Given the description of an element on the screen output the (x, y) to click on. 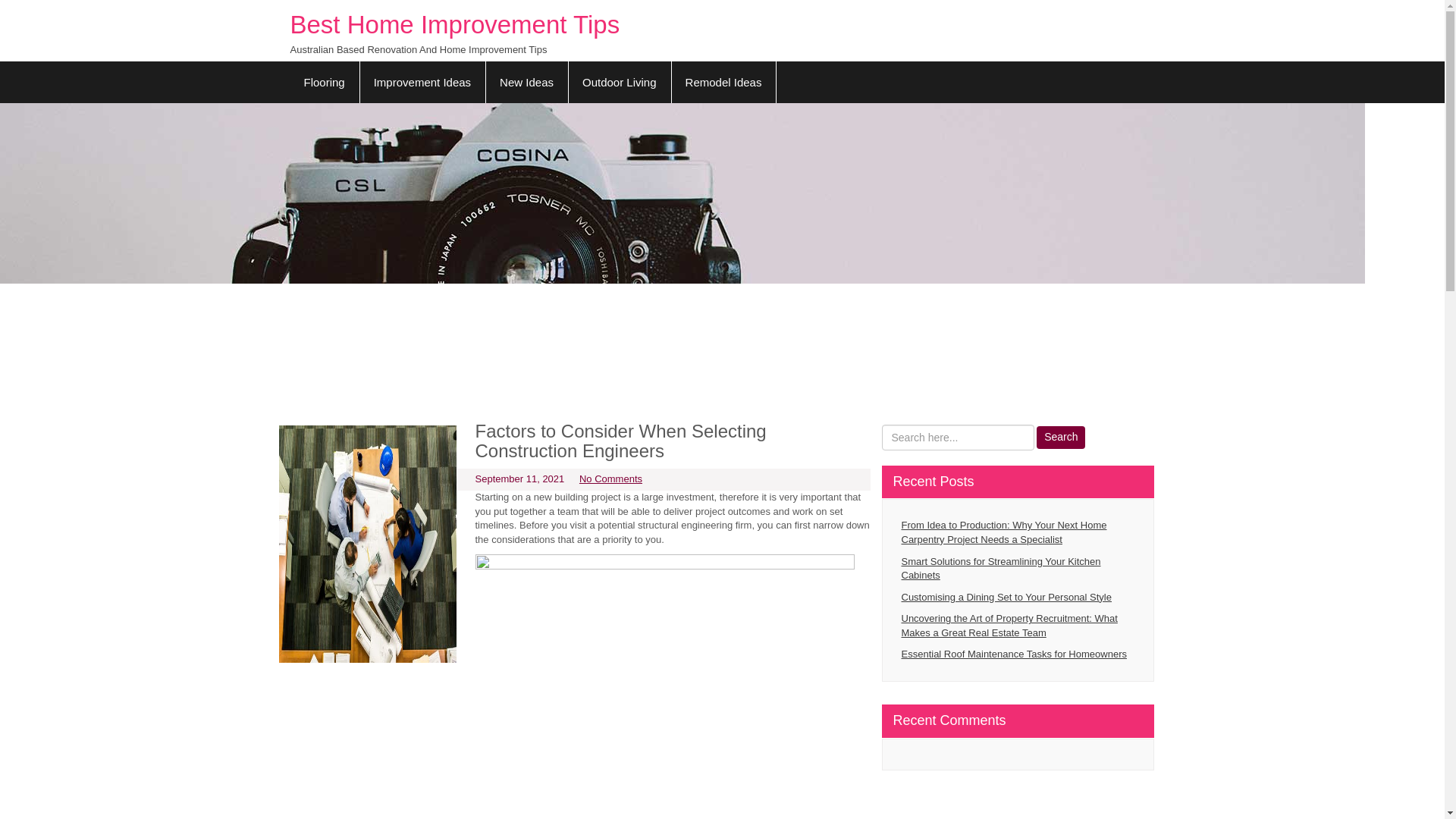
Search (1060, 436)
Flooring (324, 82)
Smart Solutions for Streamlining Your Kitchen Cabinets (1018, 569)
Outdoor Living (619, 82)
Remodel Ideas (724, 82)
Search (1060, 436)
Improvement Ideas (422, 82)
No Comments (610, 478)
New Ideas (526, 82)
Best Home Improvement Tips (454, 24)
Essential Roof Maintenance Tasks for Homeowners (1018, 654)
Customising a Dining Set to Your Personal Style (1018, 598)
